Given the description of an element on the screen output the (x, y) to click on. 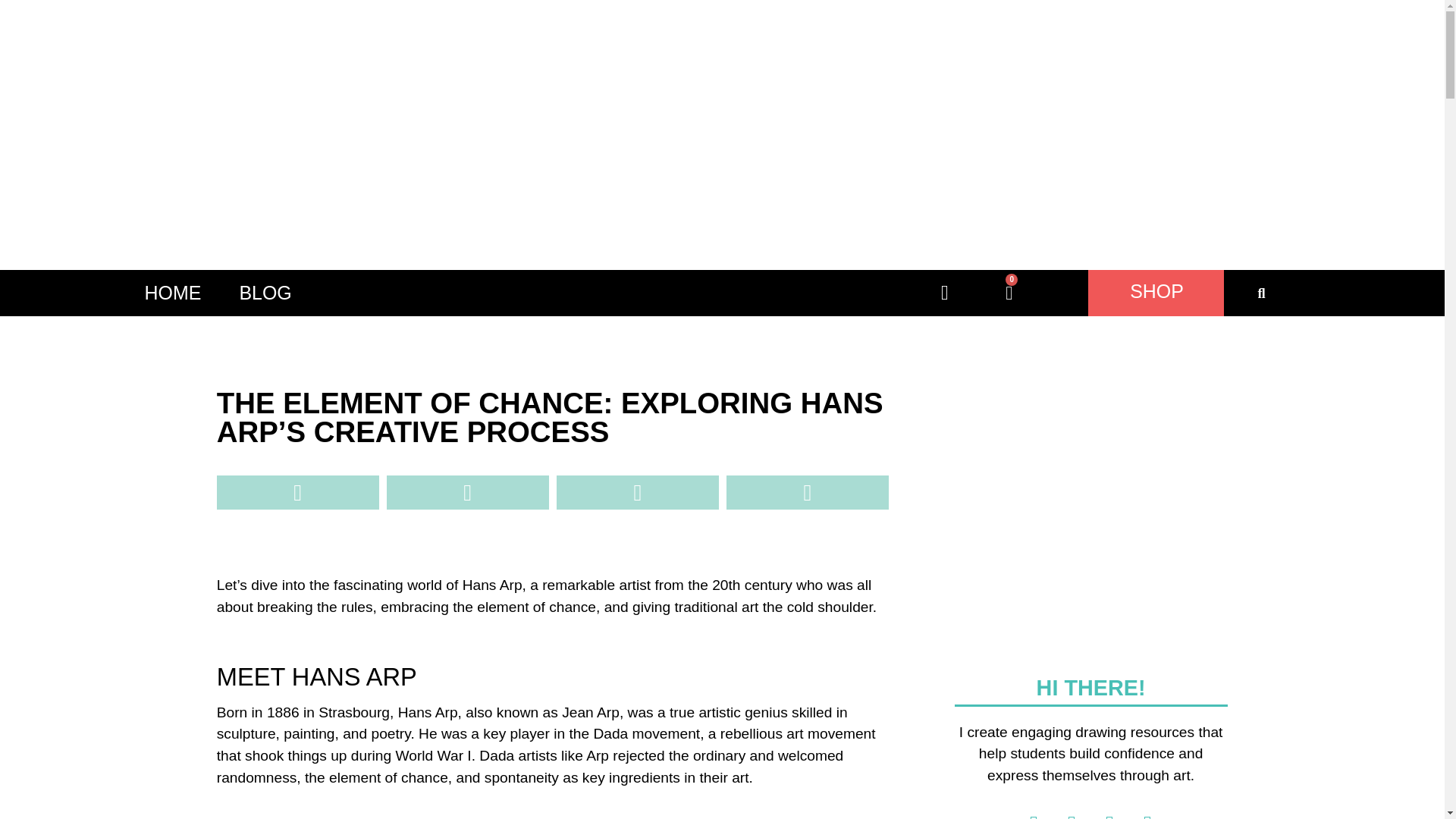
SHOP (1156, 291)
BLOG (264, 293)
0 (1008, 293)
HOME (172, 293)
